Given the description of an element on the screen output the (x, y) to click on. 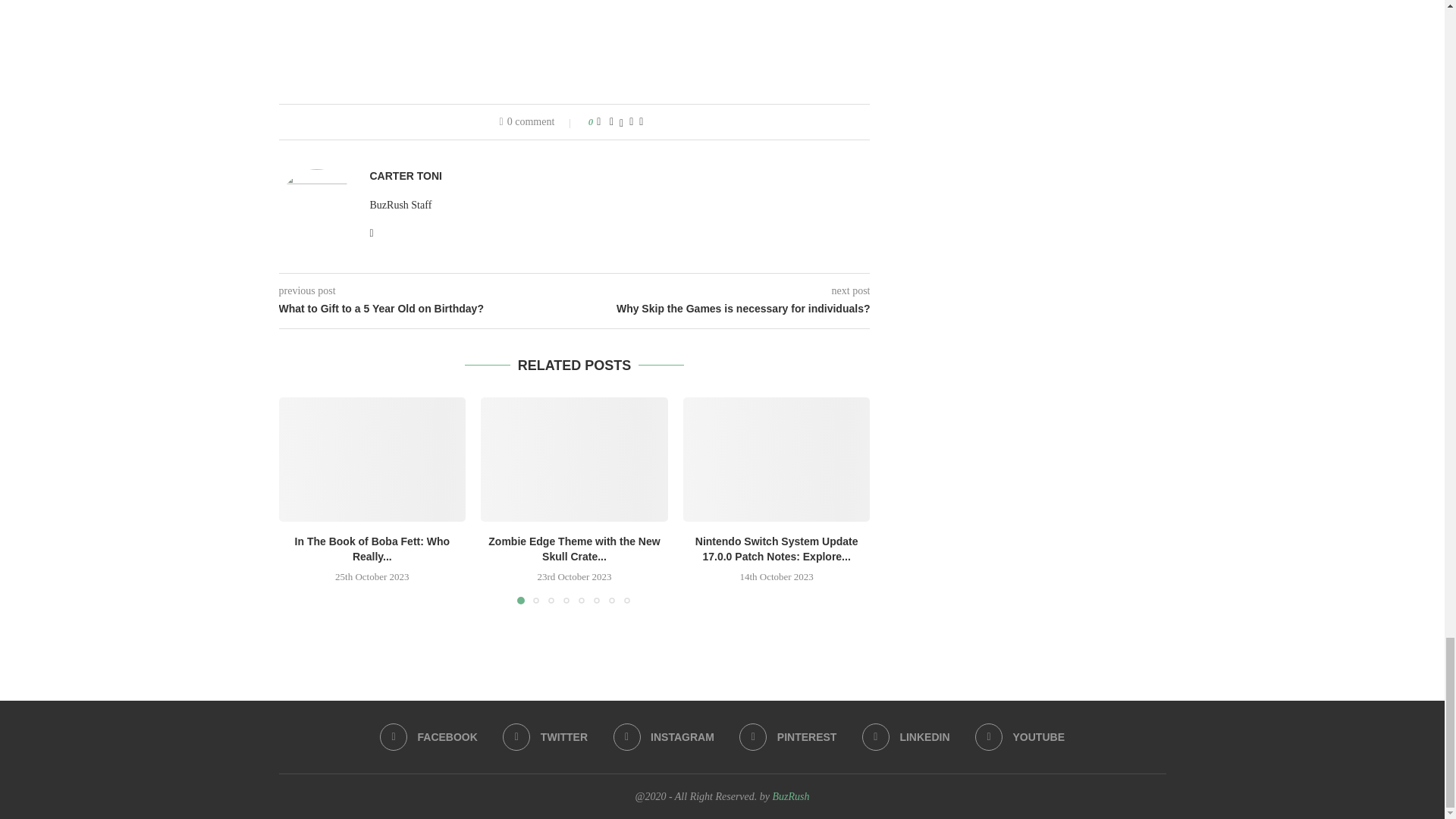
Advertisement (574, 40)
CARTER TONI (405, 175)
Why Skip the Games is necessary for individuals? (722, 309)
Zombie Edge Theme with the New Skull Crate... (573, 548)
Author Carter Toni (405, 175)
Nintendo Switch System Update 17.0.0 Patch Notes: Explore... (777, 548)
In The Book of Boba Fett: Who Really... (372, 548)
What to Gift to a 5 Year Old on Birthday? (427, 309)
